Given the description of an element on the screen output the (x, y) to click on. 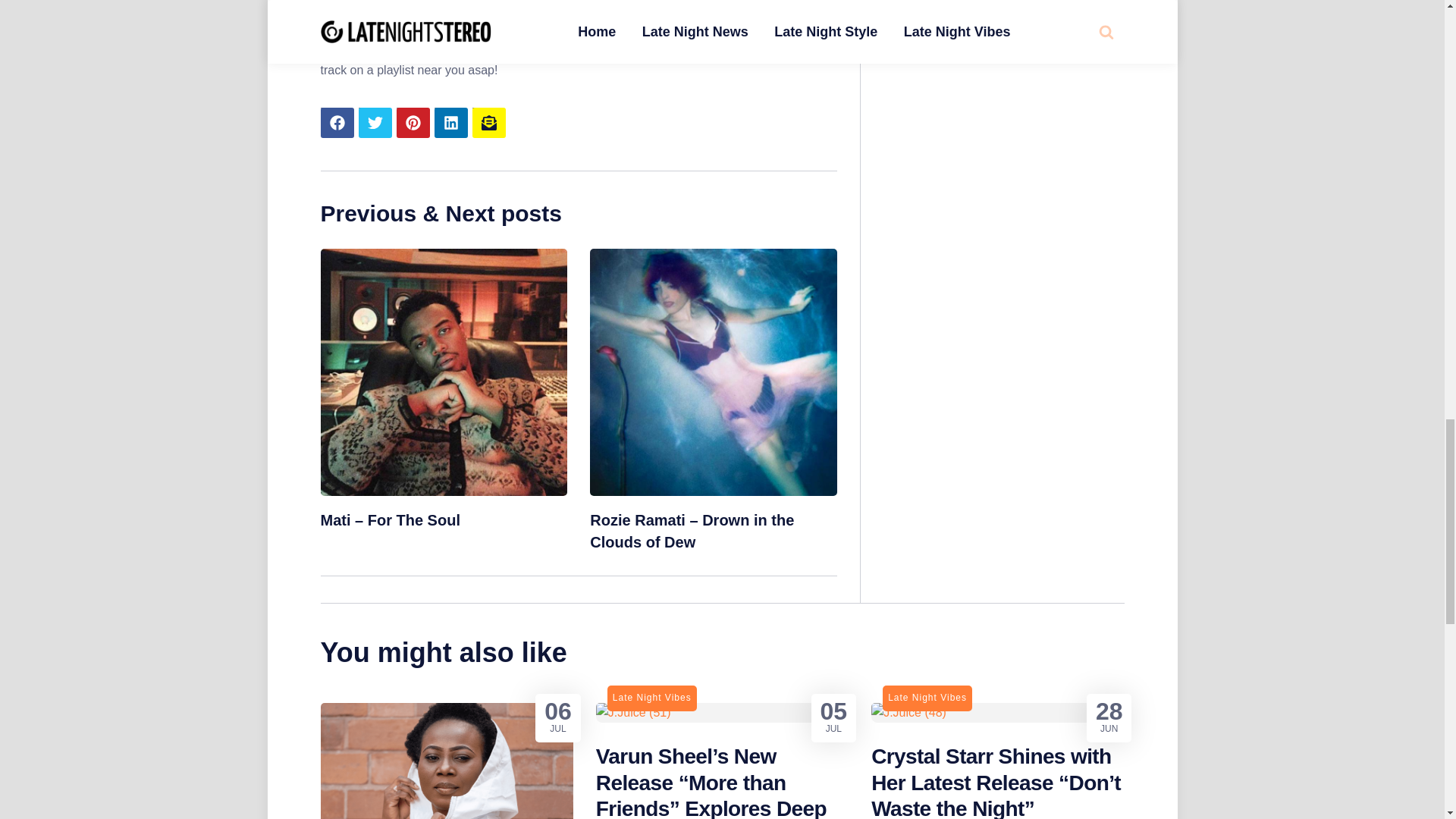
Late Night Vibes (927, 698)
Late Night Vibes (652, 698)
